Given the description of an element on the screen output the (x, y) to click on. 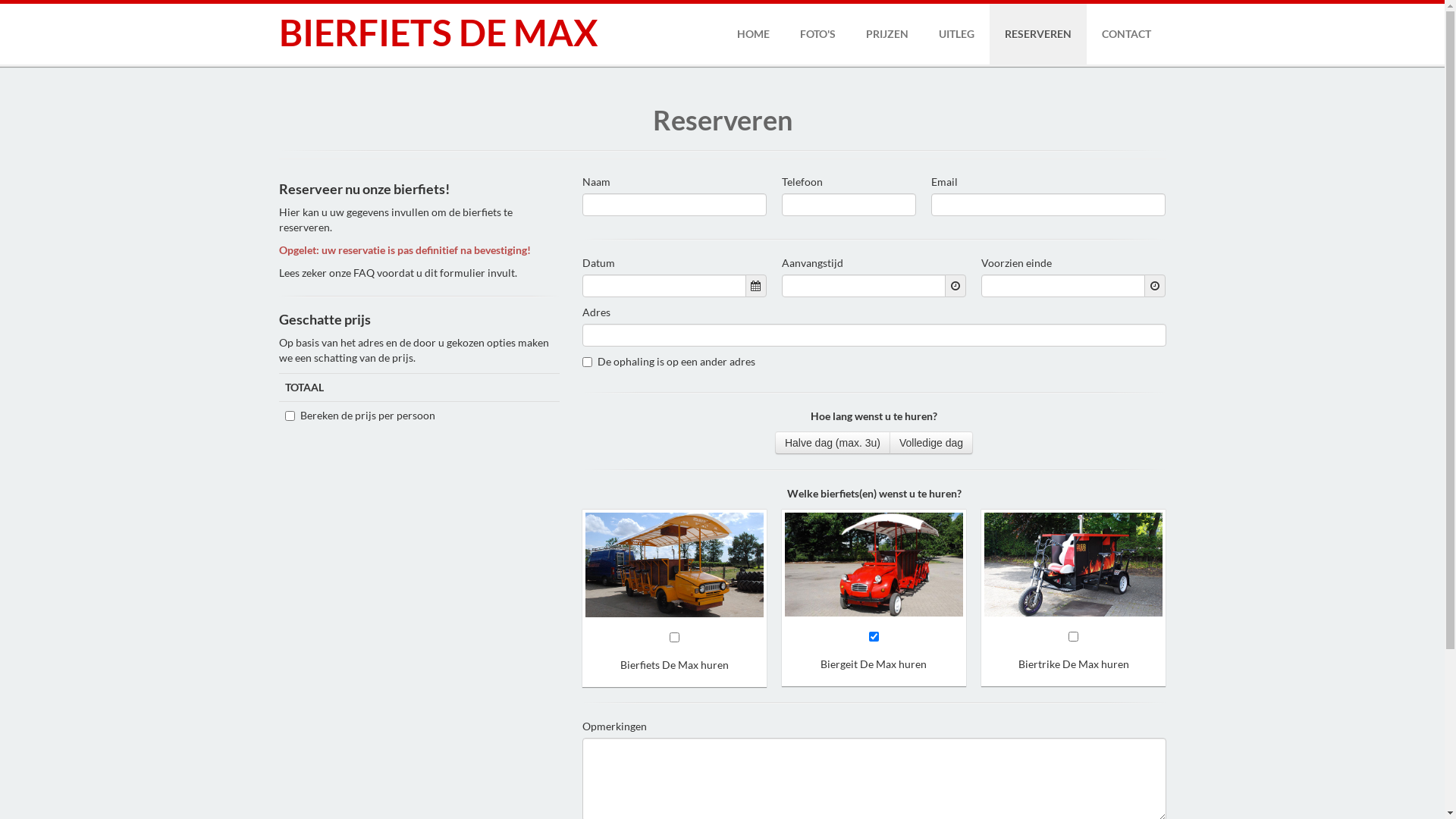
PRIJZEN Element type: text (886, 33)
Halve dag (max. 3u) Element type: text (832, 442)
UITLEG Element type: text (956, 33)
HOME Element type: text (752, 33)
RESERVEREN Element type: text (1036, 33)
Volledige dag Element type: text (930, 442)
FOTO'S Element type: text (817, 33)
CONTACT Element type: text (1125, 33)
